Given the description of an element on the screen output the (x, y) to click on. 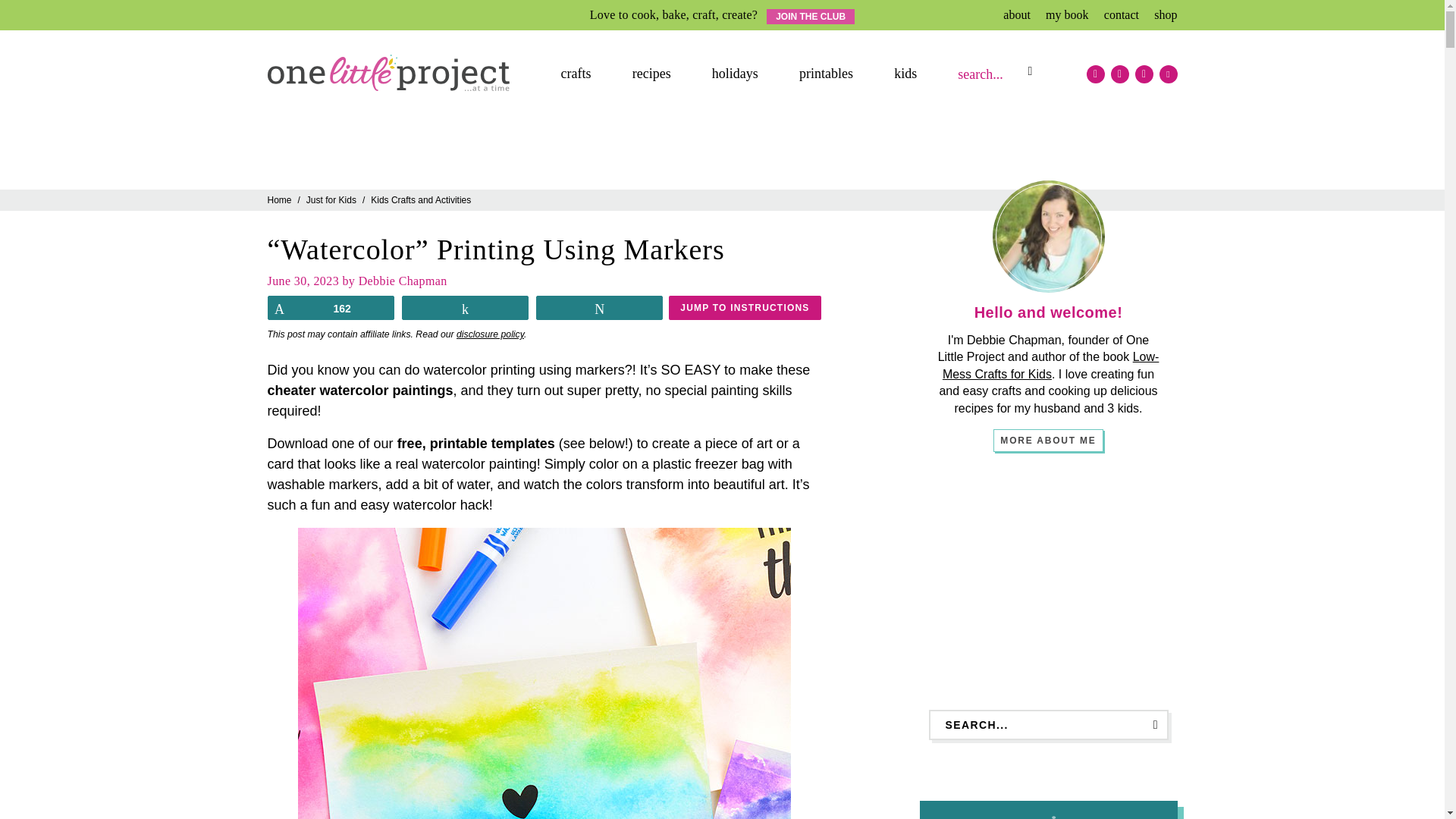
Search (1023, 73)
my book (1066, 15)
crafts (575, 73)
contact (1120, 15)
Search (1150, 724)
kids (905, 73)
One Little Project (387, 72)
printables (826, 73)
JOIN THE CLUB (810, 16)
holidays (735, 73)
recipes (651, 73)
Search (1023, 73)
Search (1023, 73)
